Given the description of an element on the screen output the (x, y) to click on. 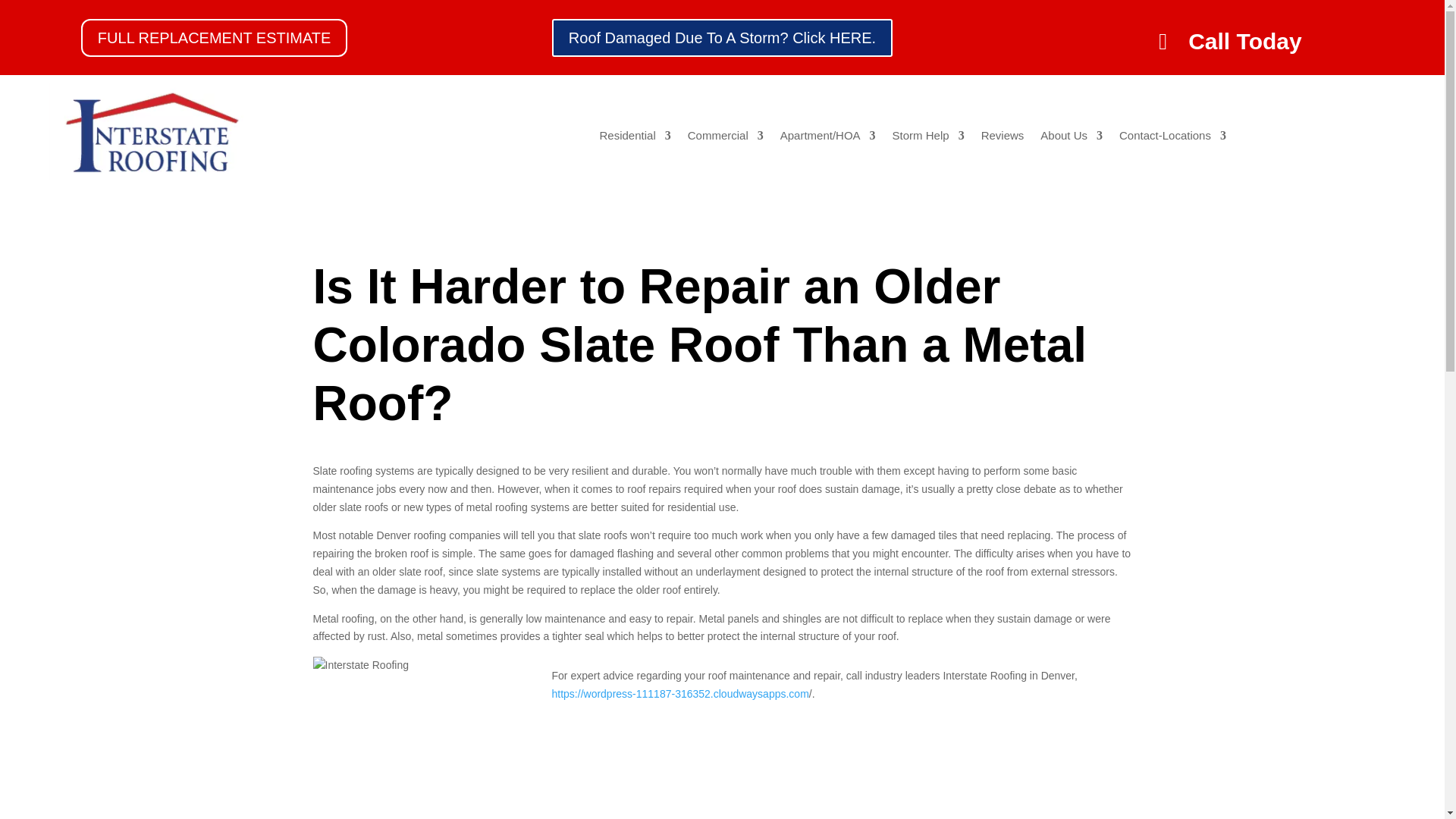
interstate-logo (150, 135)
Reviews (1003, 138)
FULL REPLACEMENT ESTIMATE (214, 37)
Roof Damaged Due To A Storm? Click HERE. (721, 37)
Call Today (1229, 41)
Contact-Locations (1172, 138)
About Us (1071, 138)
Commercial (724, 138)
Storm Help (927, 138)
Residential (633, 138)
